Given the description of an element on the screen output the (x, y) to click on. 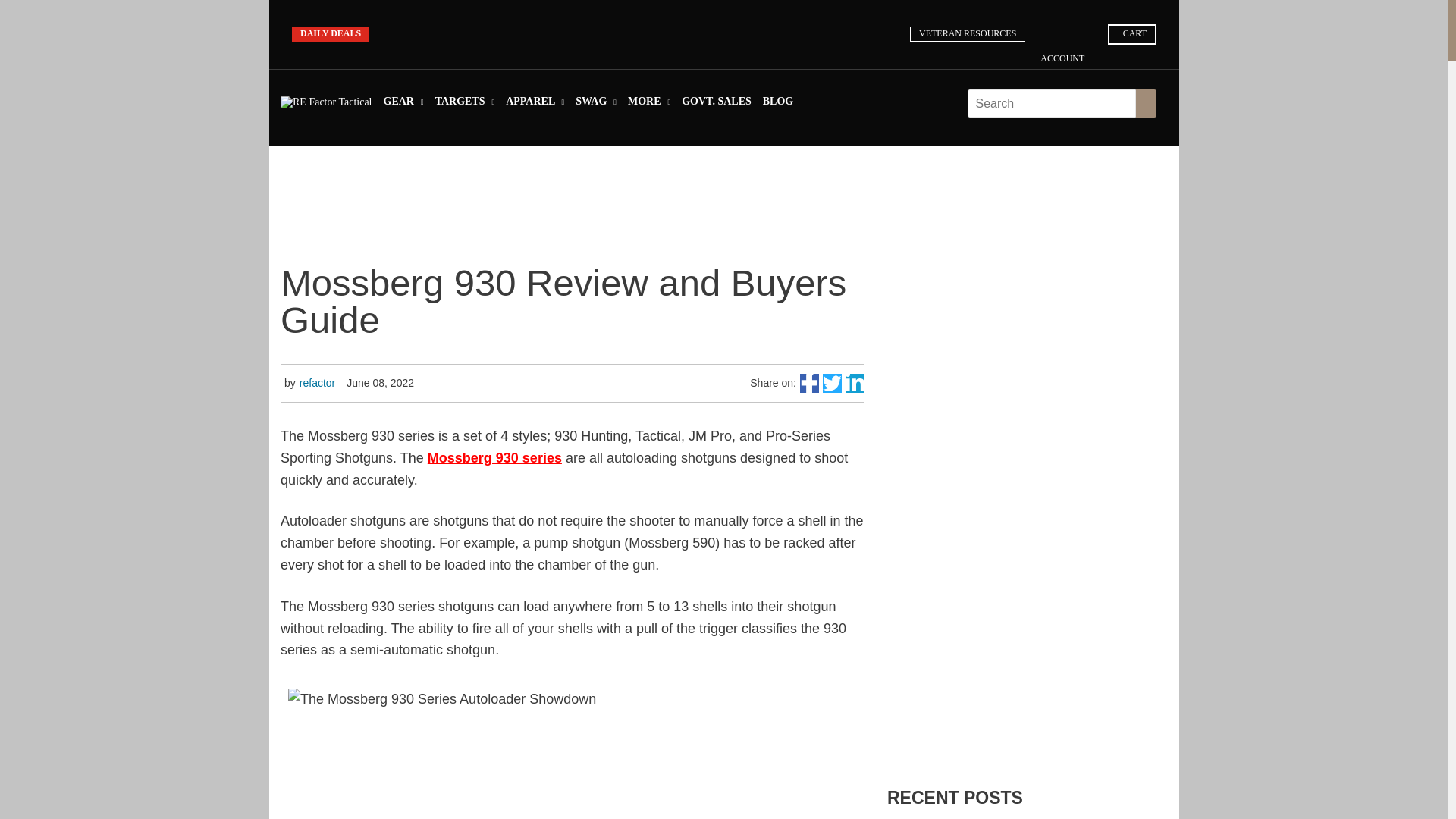
TARGETS (465, 104)
Gear (403, 104)
VETERAN RESOURCES (967, 33)
GEAR (403, 104)
CART (1131, 34)
ACCOUNT (1067, 53)
DAILY DEALS (330, 33)
Targets (465, 104)
Apparel (534, 104)
SWAG (595, 104)
